Given the description of an element on the screen output the (x, y) to click on. 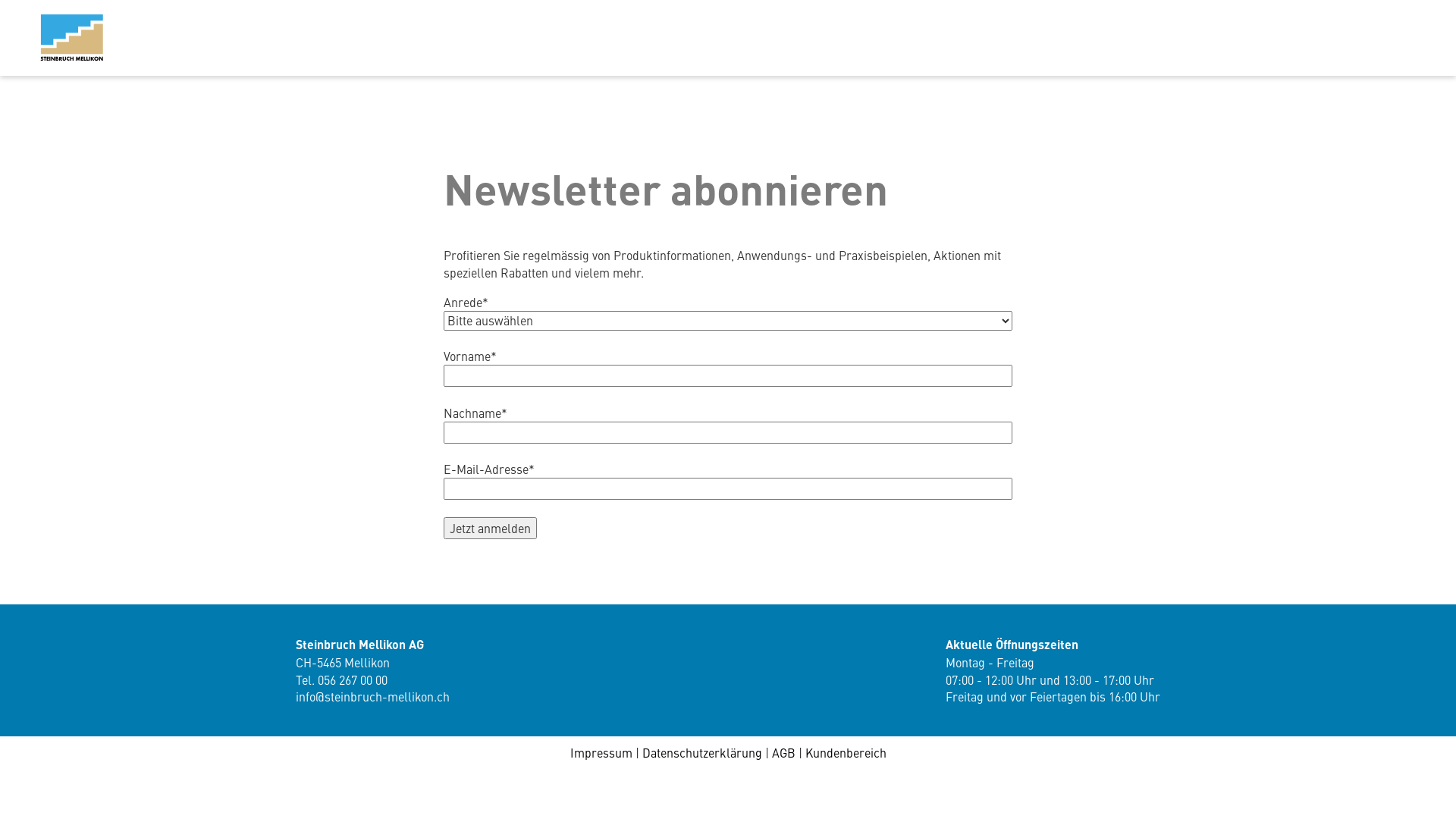
Tel. 056 267 00 00 Element type: text (341, 679)
info@steinbruch-mellikon.ch Element type: text (372, 695)
AGB Element type: text (783, 751)
Kundenbereich Element type: text (845, 751)
Jetzt anmelden Element type: text (489, 528)
Impressum Element type: text (601, 751)
